Given the description of an element on the screen output the (x, y) to click on. 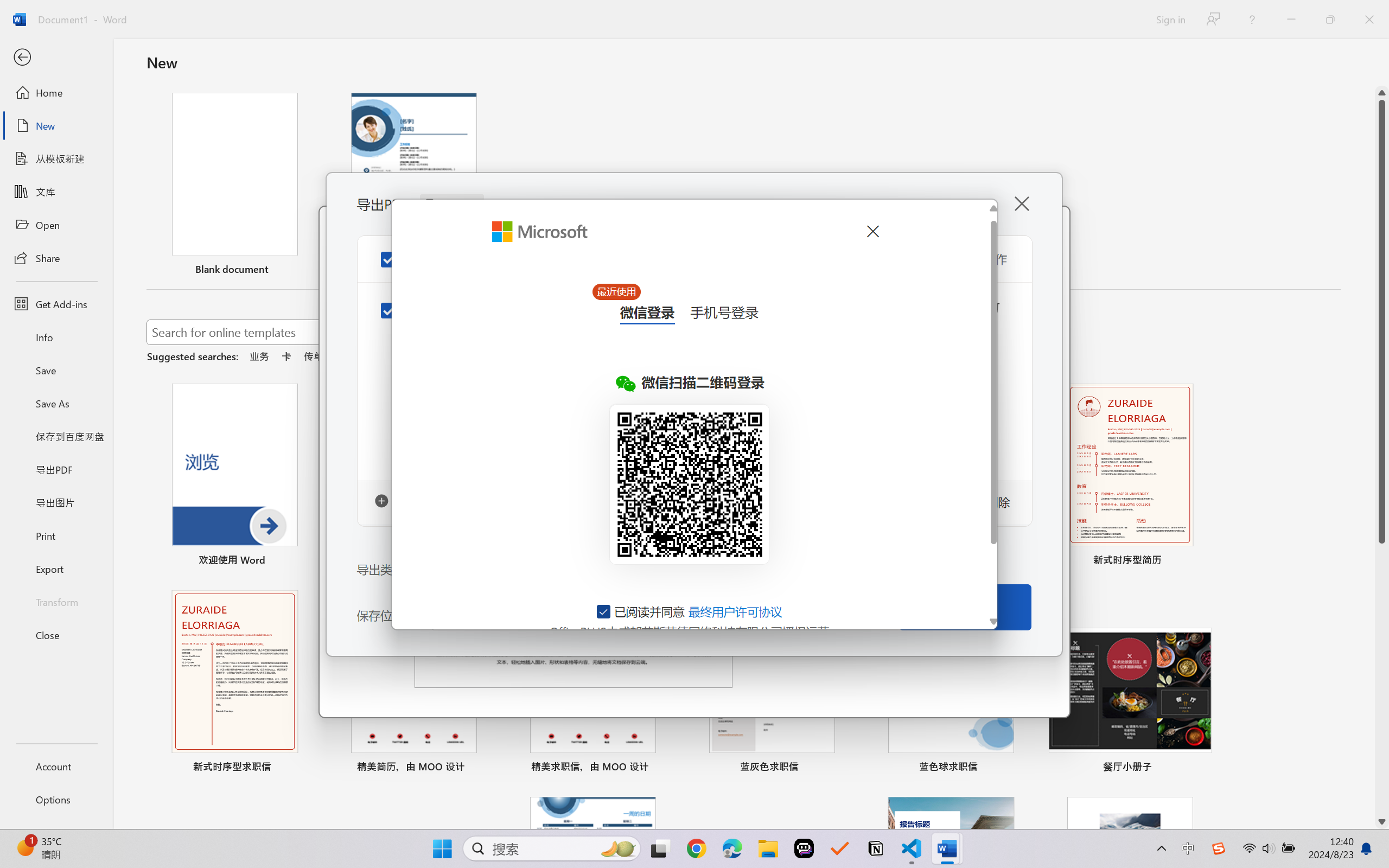
Export (56, 568)
Back (56, 57)
Microsoft Edge (731, 848)
